Given the description of an element on the screen output the (x, y) to click on. 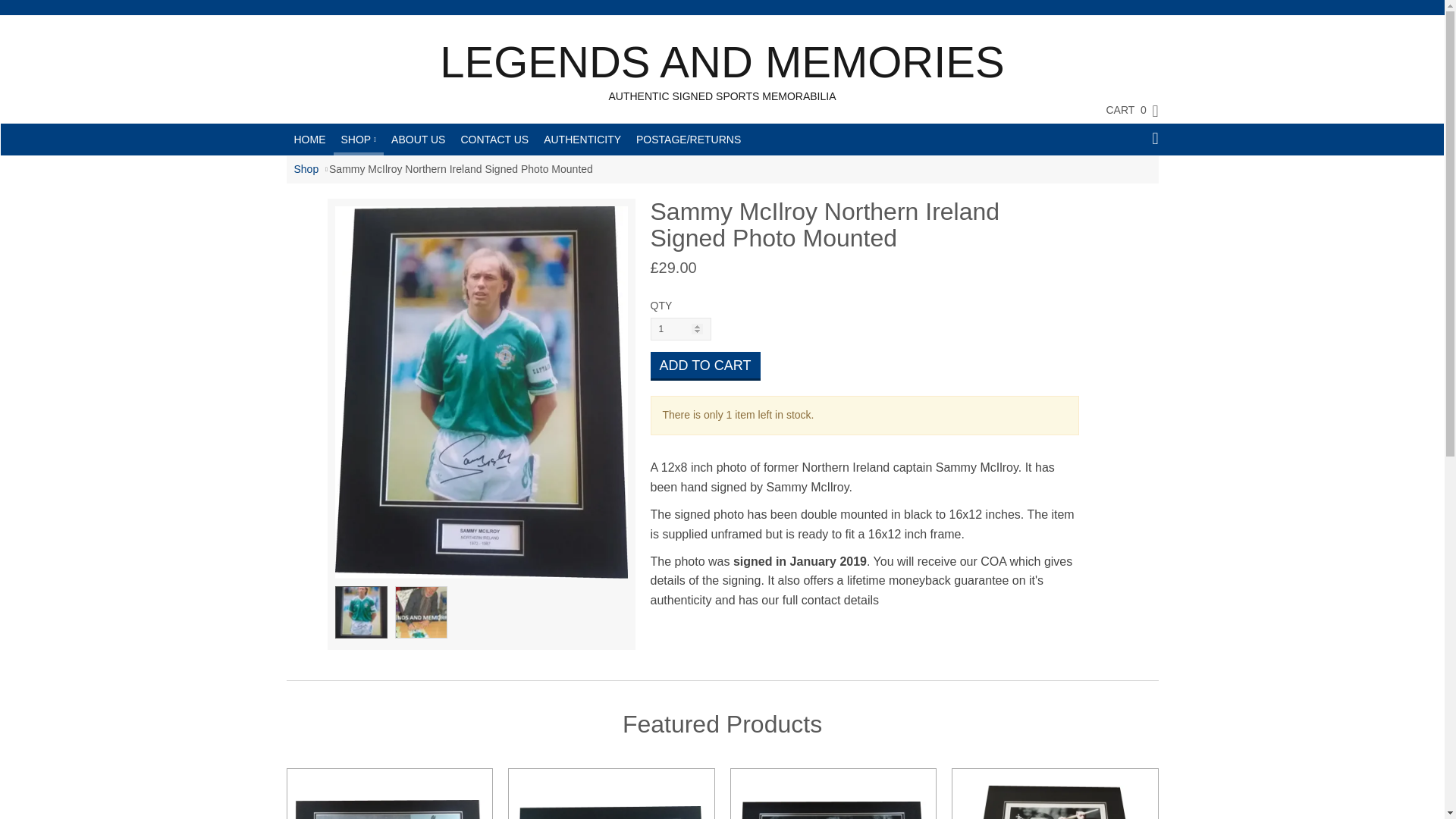
HOME (309, 139)
SHOP (358, 137)
CART  0   (1123, 109)
LEGENDS AND MEMORIES (721, 61)
1 (680, 328)
Add to Cart (705, 366)
